Given the description of an element on the screen output the (x, y) to click on. 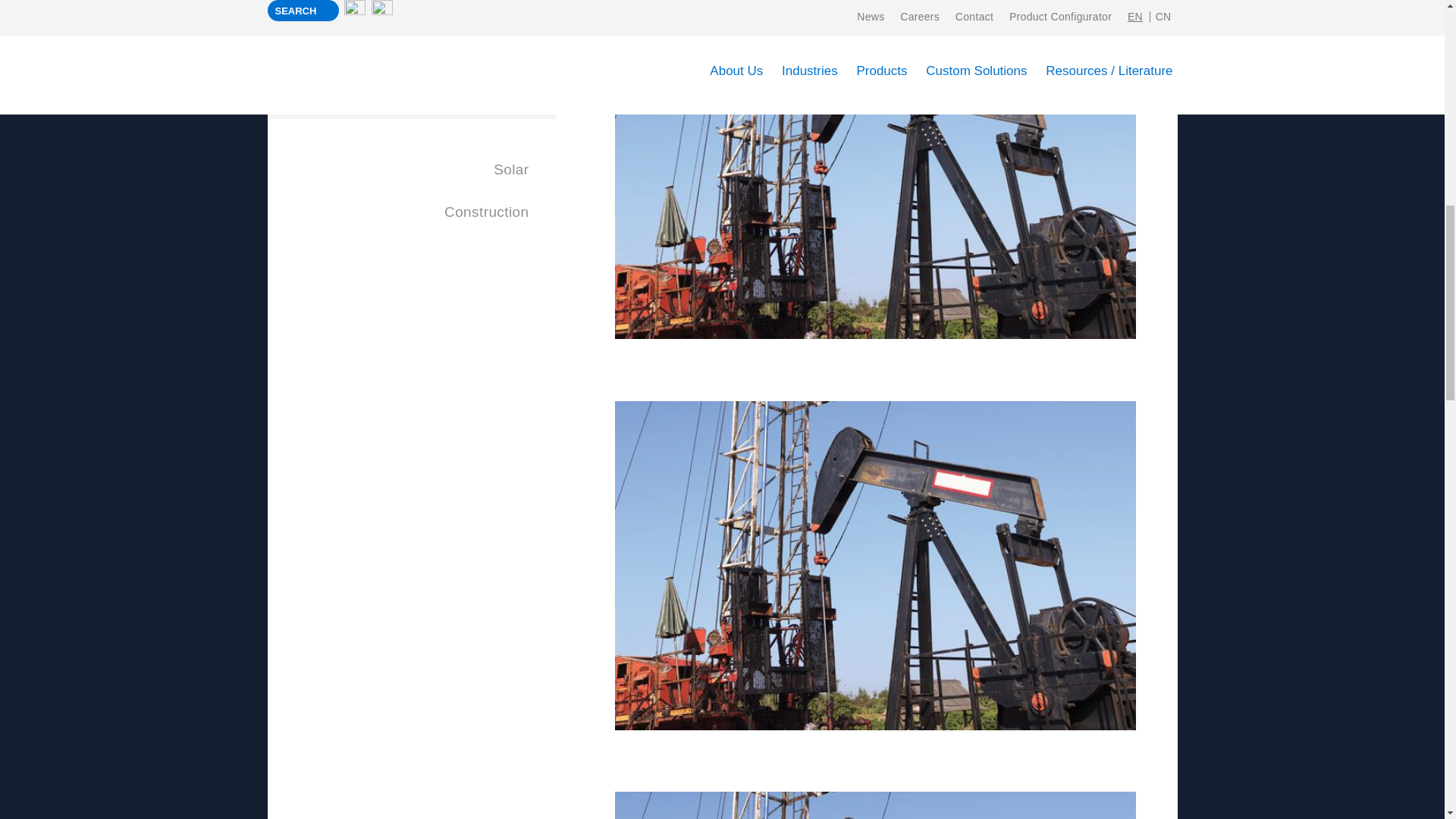
Construction (410, 212)
Solar (410, 170)
Manufacturing (410, 8)
